Given the description of an element on the screen output the (x, y) to click on. 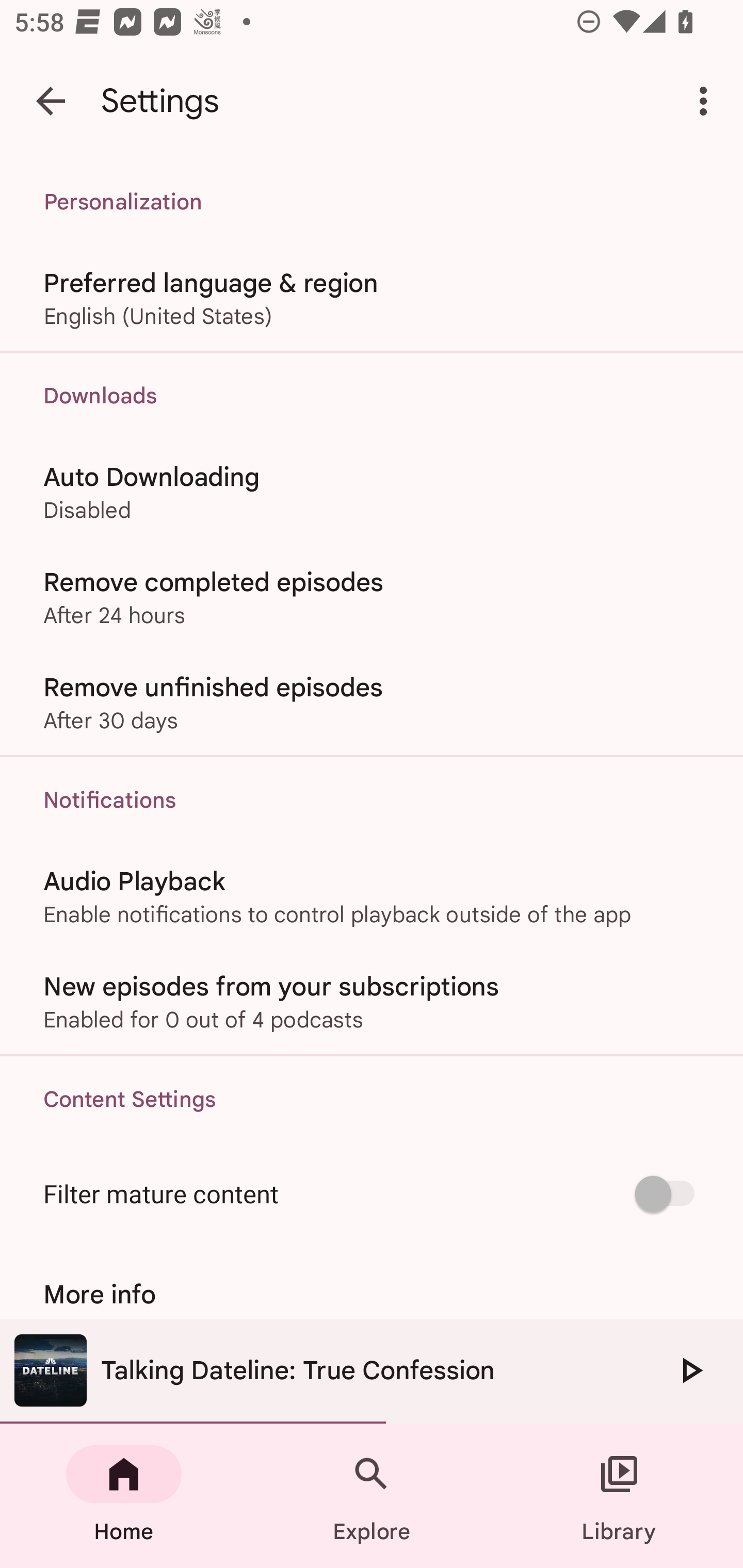
Navigate up (50, 101)
More options (706, 101)
Auto Downloading Disabled (371, 491)
Remove completed episodes After 24 hours (371, 596)
Remove unfinished episodes After 30 days (371, 702)
More info (371, 1294)
Play (690, 1370)
Explore (371, 1495)
Library (619, 1495)
